Given the description of an element on the screen output the (x, y) to click on. 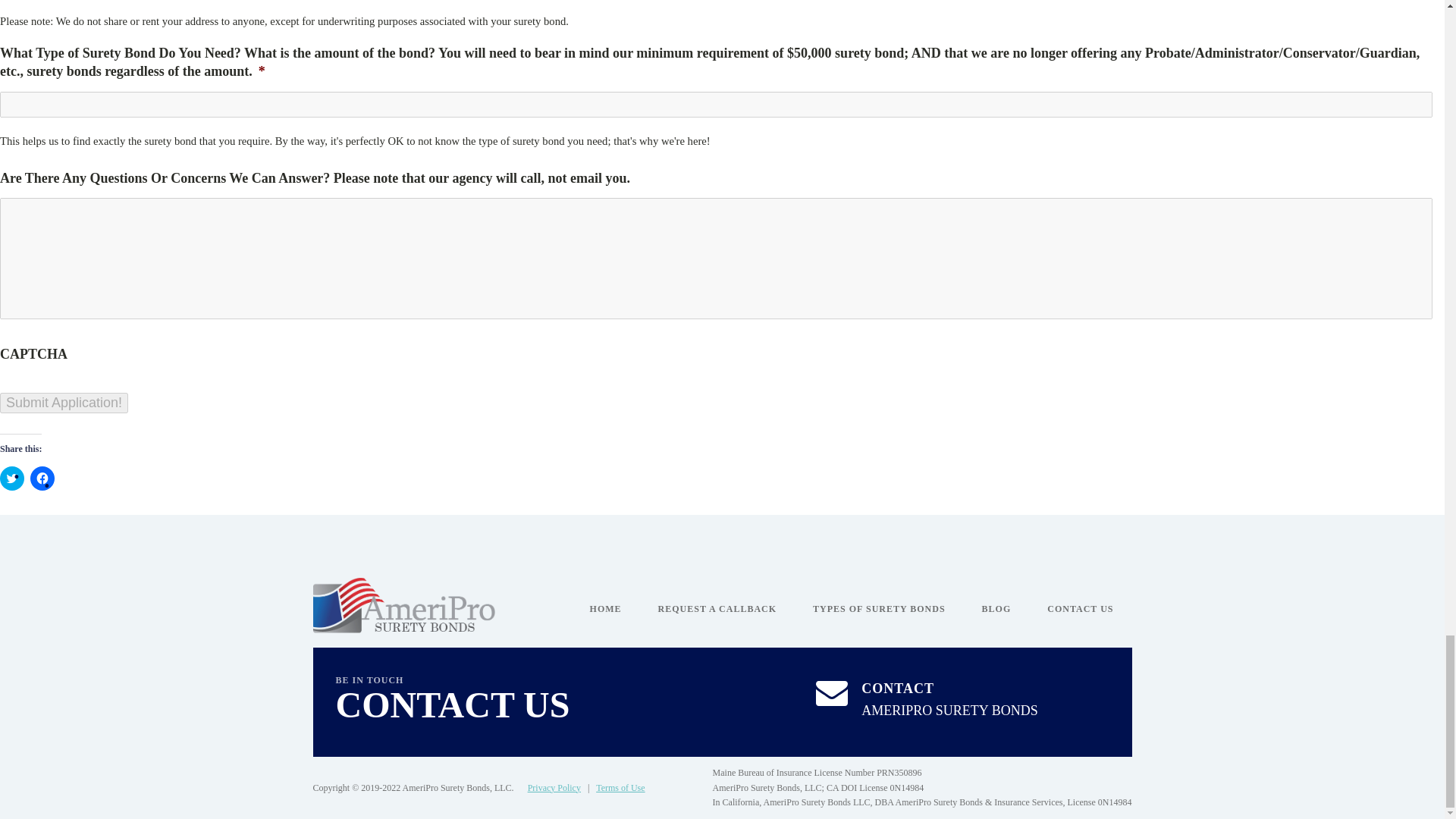
HOME (926, 700)
Privacy Policy (606, 608)
TYPES OF SURETY BONDS (553, 787)
REQUEST A CALLBACK (878, 608)
BLOG (717, 608)
Terms of Use (996, 608)
Submit Application! (620, 787)
Click to share on Twitter (64, 403)
Submit Application! (12, 478)
